Given the description of an element on the screen output the (x, y) to click on. 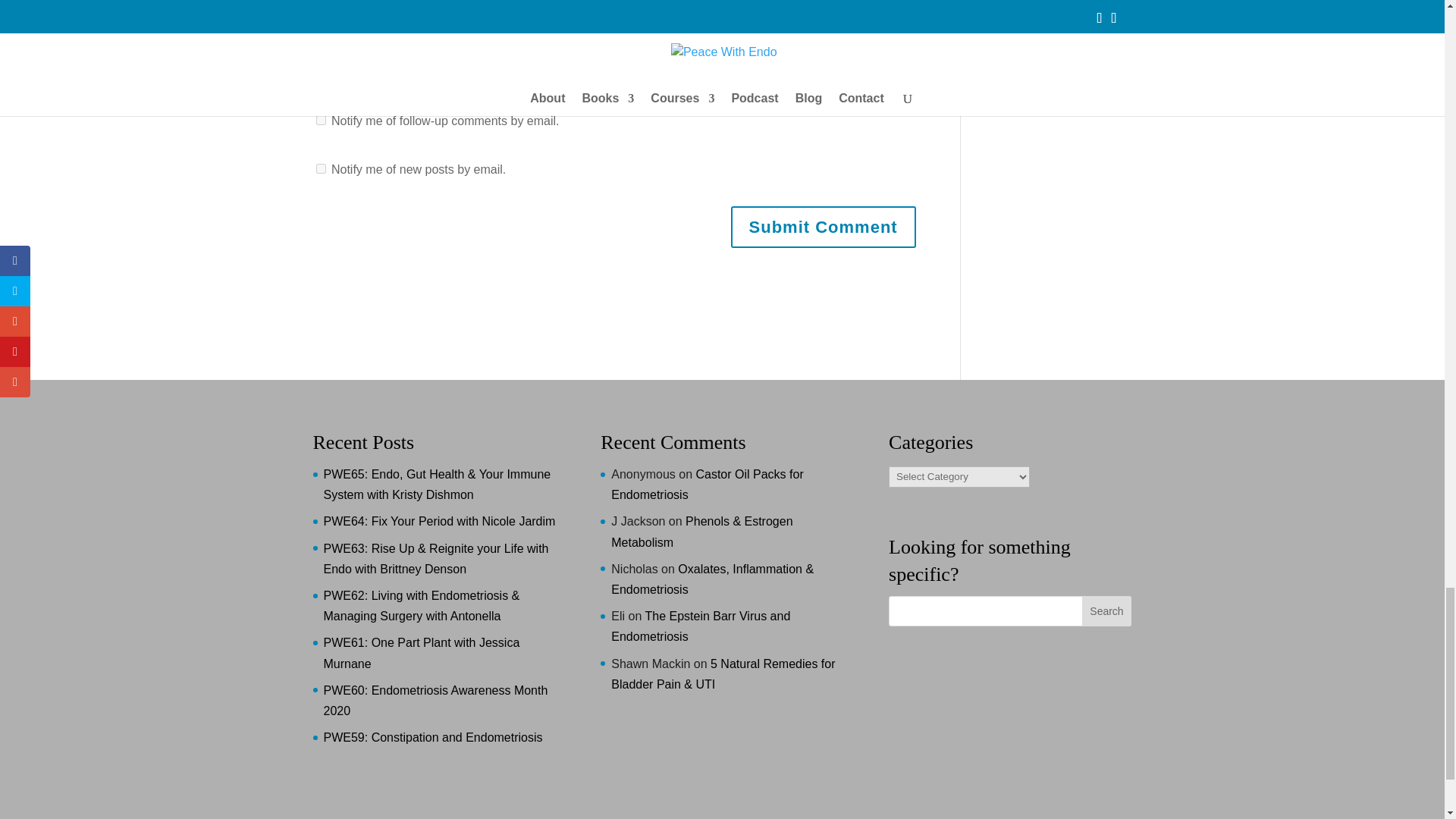
subscribe (319, 120)
Search (1106, 611)
Submit Comment (822, 227)
subscribe (319, 168)
PWE60: Endometriosis Awareness Month 2020 (435, 700)
PWE61: One Part Plant with Jessica Murnane (421, 652)
PWE59: Constipation and Endometriosis (432, 737)
Submit Comment (822, 227)
PWE64: Fix Your Period with Nicole Jardim (438, 521)
Castor Oil Packs for Endometriosis (707, 484)
